Given the description of an element on the screen output the (x, y) to click on. 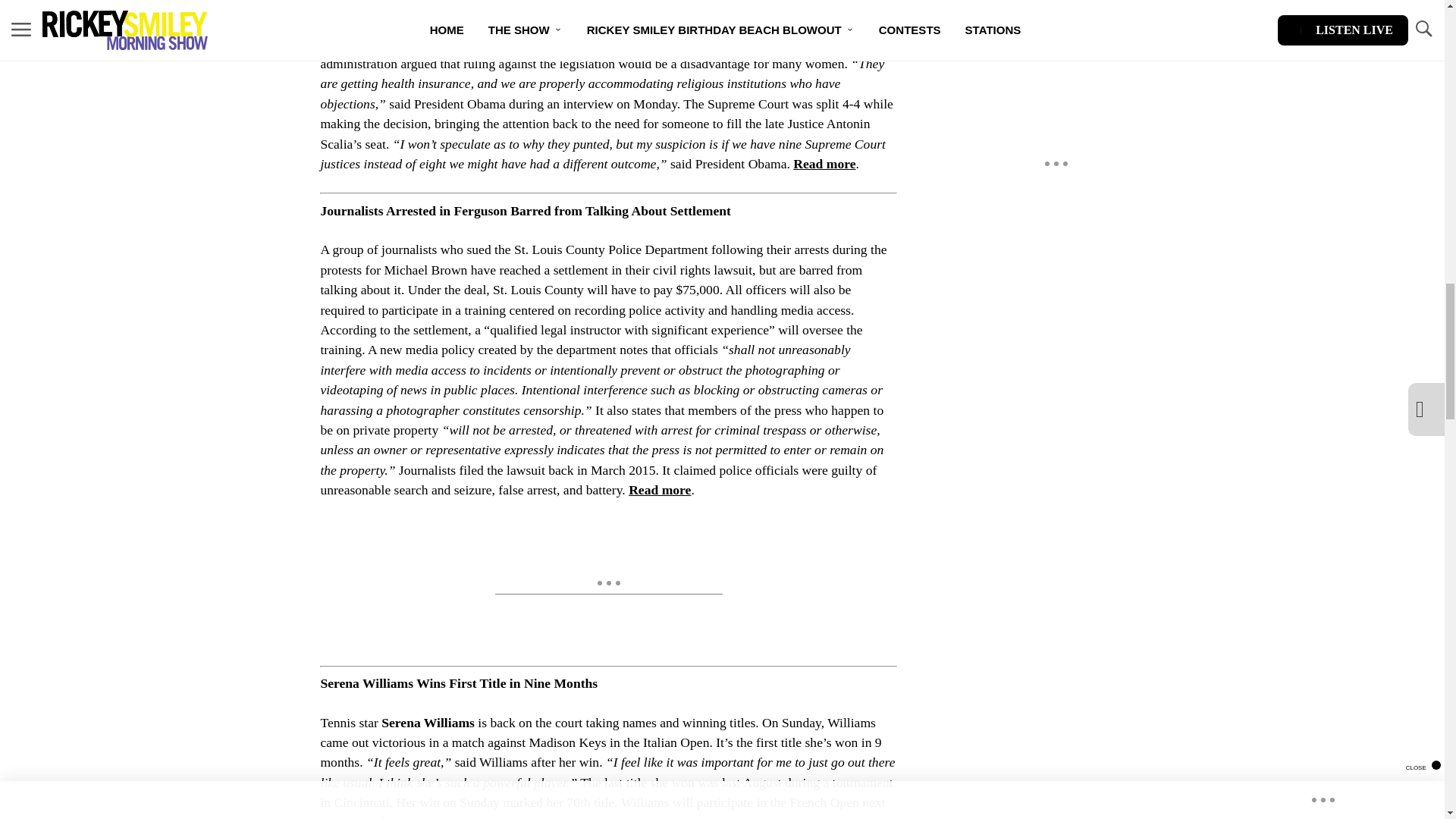
Read more (659, 489)
Read more (824, 163)
Read more (385, 816)
